Given the description of an element on the screen output the (x, y) to click on. 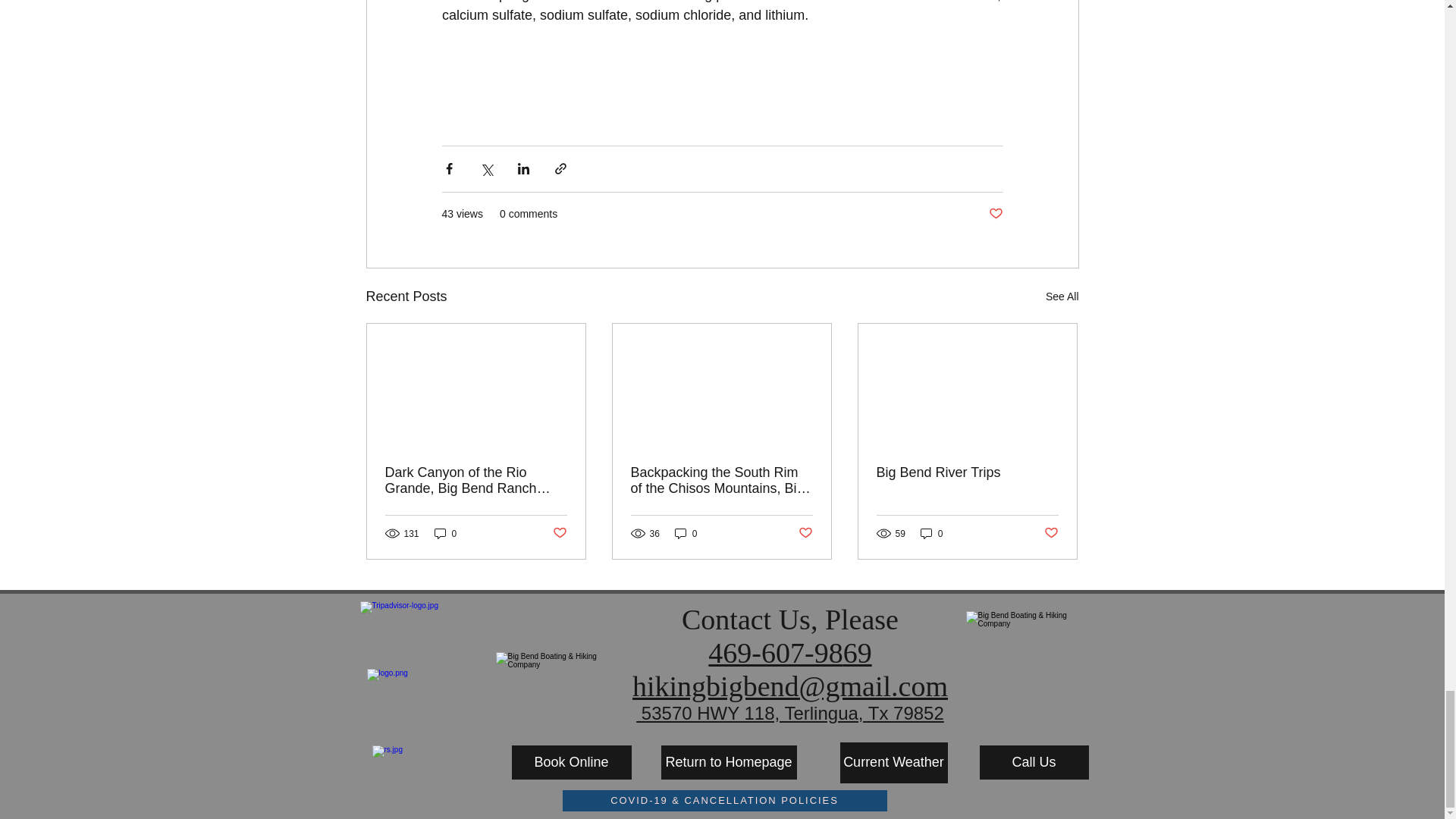
Dark Canyon of the Rio Grande, Big Bend Ranch State Park (476, 480)
Post not marked as liked (804, 533)
Post not marked as liked (558, 533)
0 (445, 533)
Big Bend River Trips (967, 472)
Post not marked as liked (995, 213)
0 (931, 533)
Post not marked as liked (1050, 533)
0 (685, 533)
See All (1061, 296)
